Given the description of an element on the screen output the (x, y) to click on. 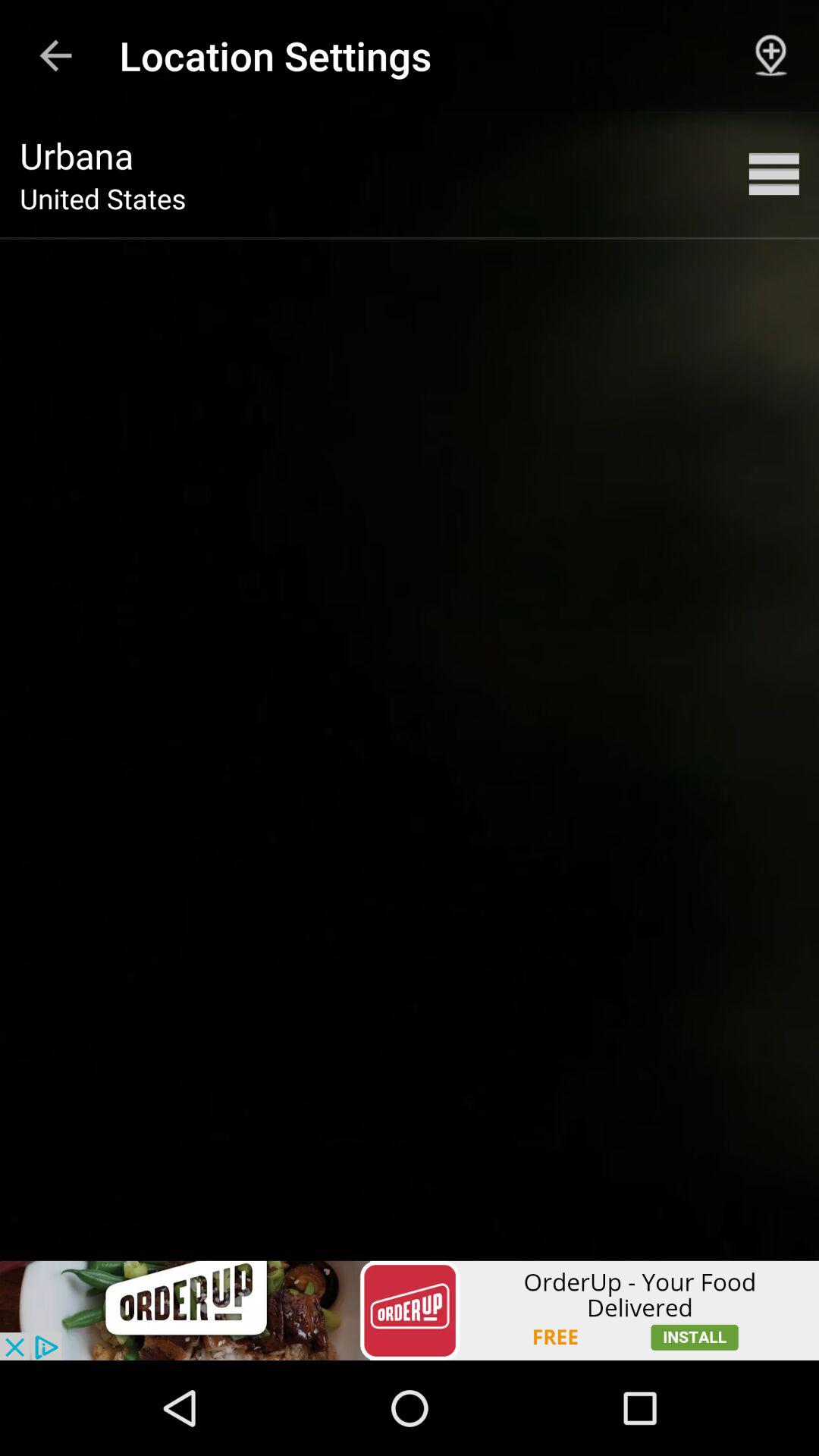
advertising (409, 1310)
